Given the description of an element on the screen output the (x, y) to click on. 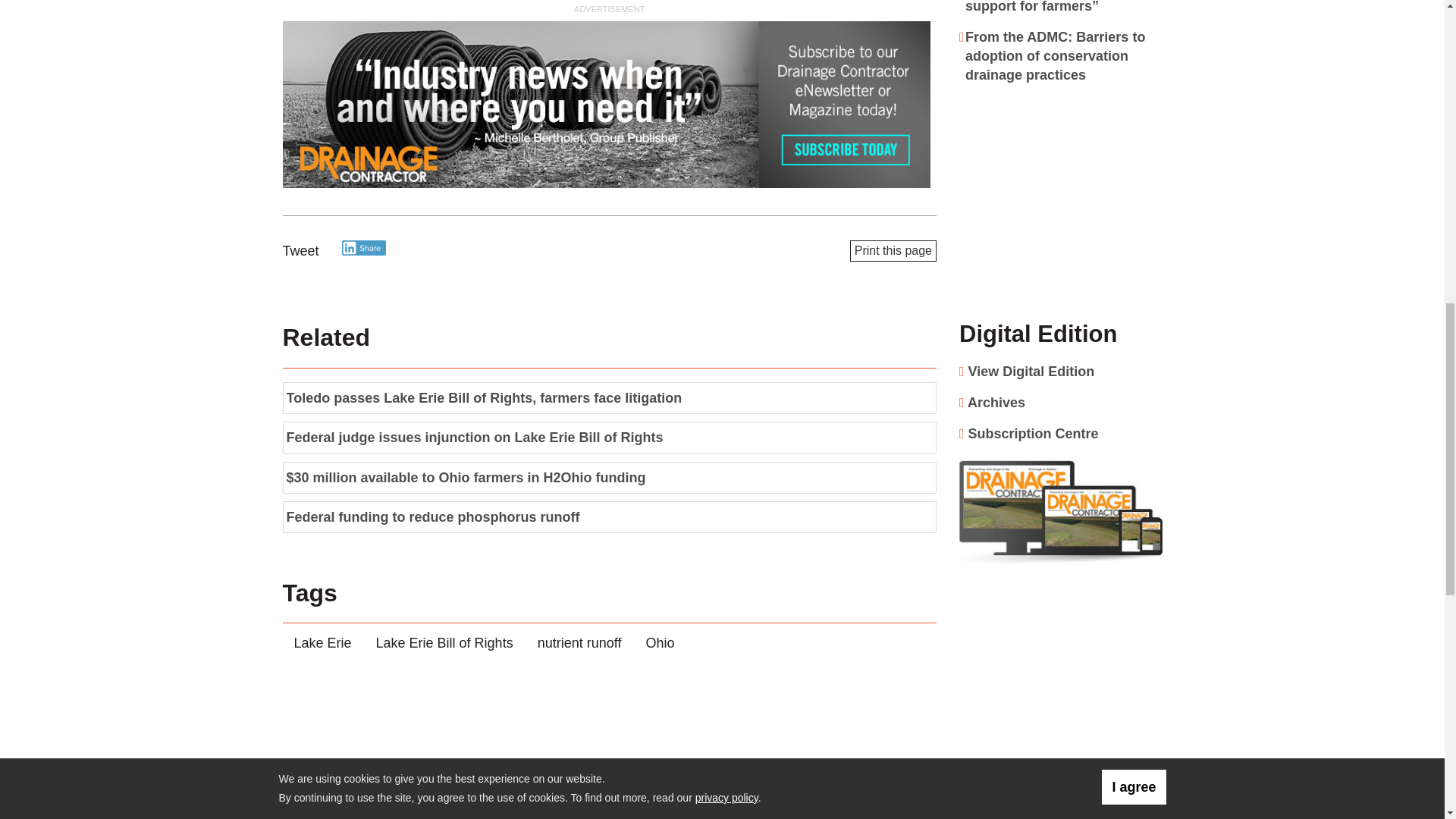
3rd party ad content (1060, 192)
3rd party ad content (609, 105)
